Given the description of an element on the screen output the (x, y) to click on. 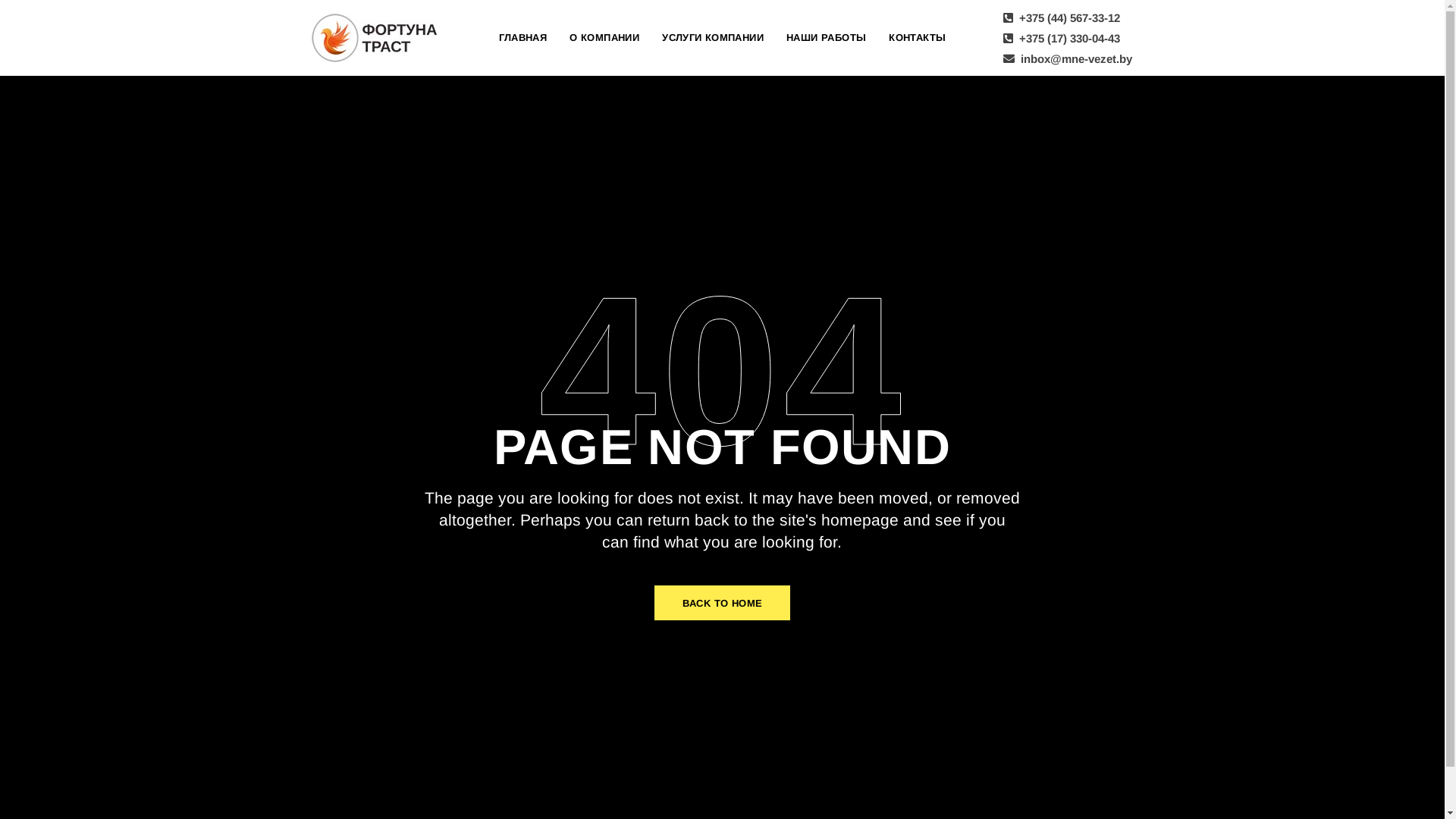
 inbox@mne-vezet.by Element type: text (1066, 57)
BACK TO HOME
BACK TO HOME Element type: text (722, 602)
  +375 (44) 567-33-12 Element type: text (1060, 16)
 +375 (17) 330-04-43 Element type: text (1060, 37)
